Given the description of an element on the screen output the (x, y) to click on. 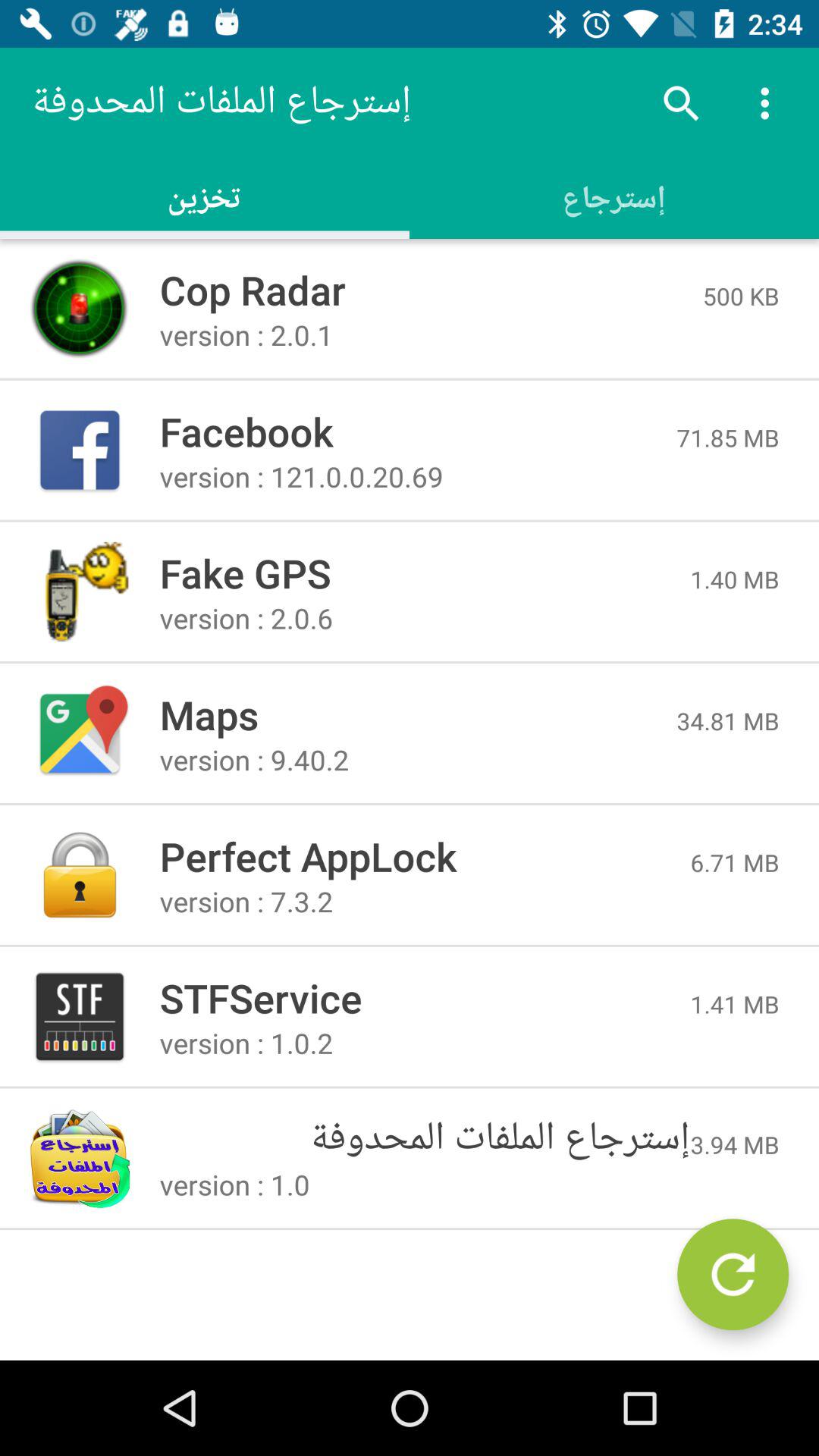
press the item next to the 1.41 mb icon (424, 997)
